Given the description of an element on the screen output the (x, y) to click on. 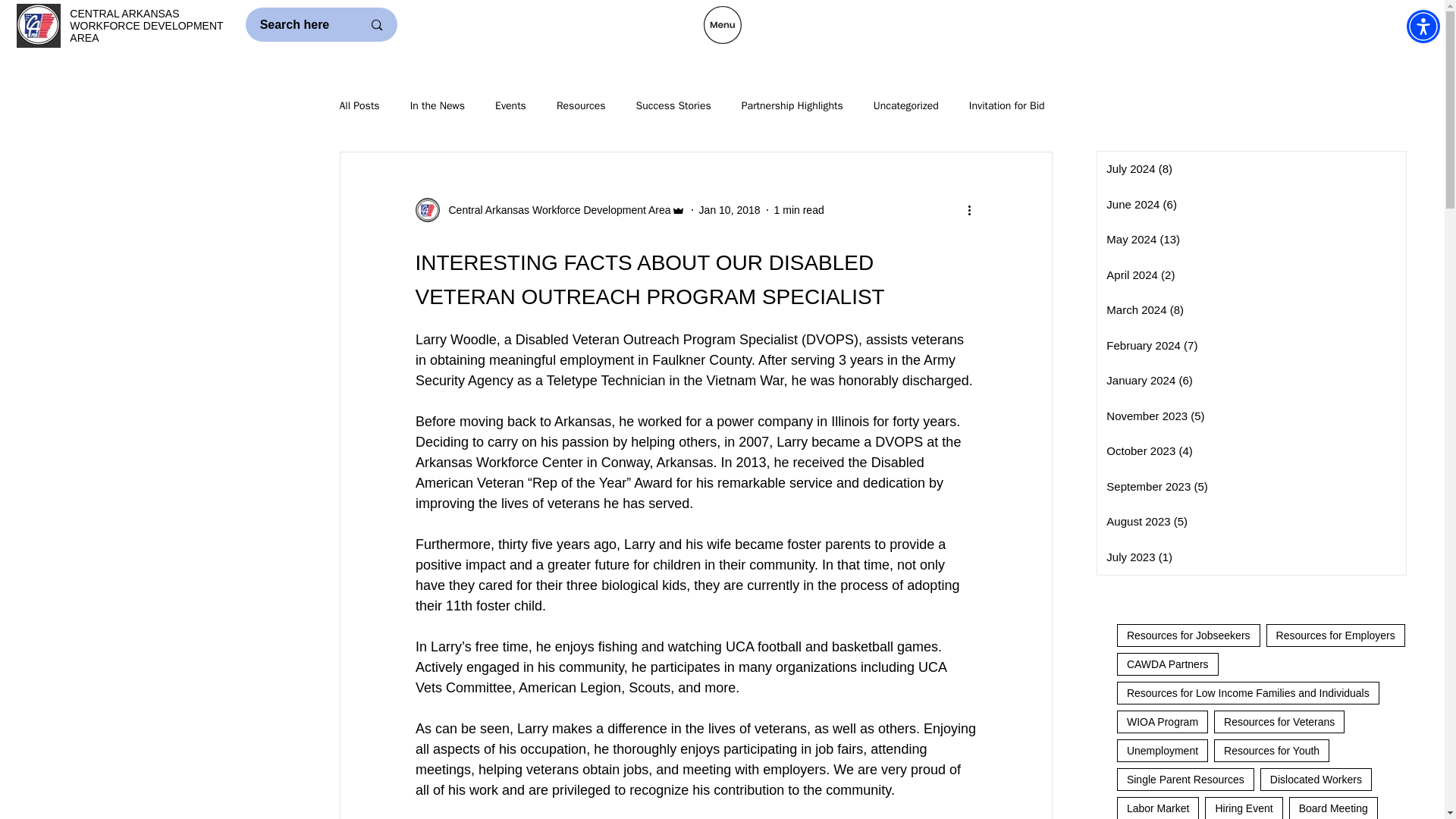
Events (510, 106)
Success Stories (672, 106)
Resources (580, 106)
Partnership Highlights (792, 106)
Central Arkansas Workforce Development Area (555, 210)
Jan 10, 2018 (729, 209)
Uncategorized (906, 106)
All Posts (359, 106)
Invitation for Bid (1007, 106)
1 min read (799, 209)
In the News (437, 106)
Central Arkansas Workforce Development Area (549, 209)
Accessibility Menu (1422, 26)
